Given the description of an element on the screen output the (x, y) to click on. 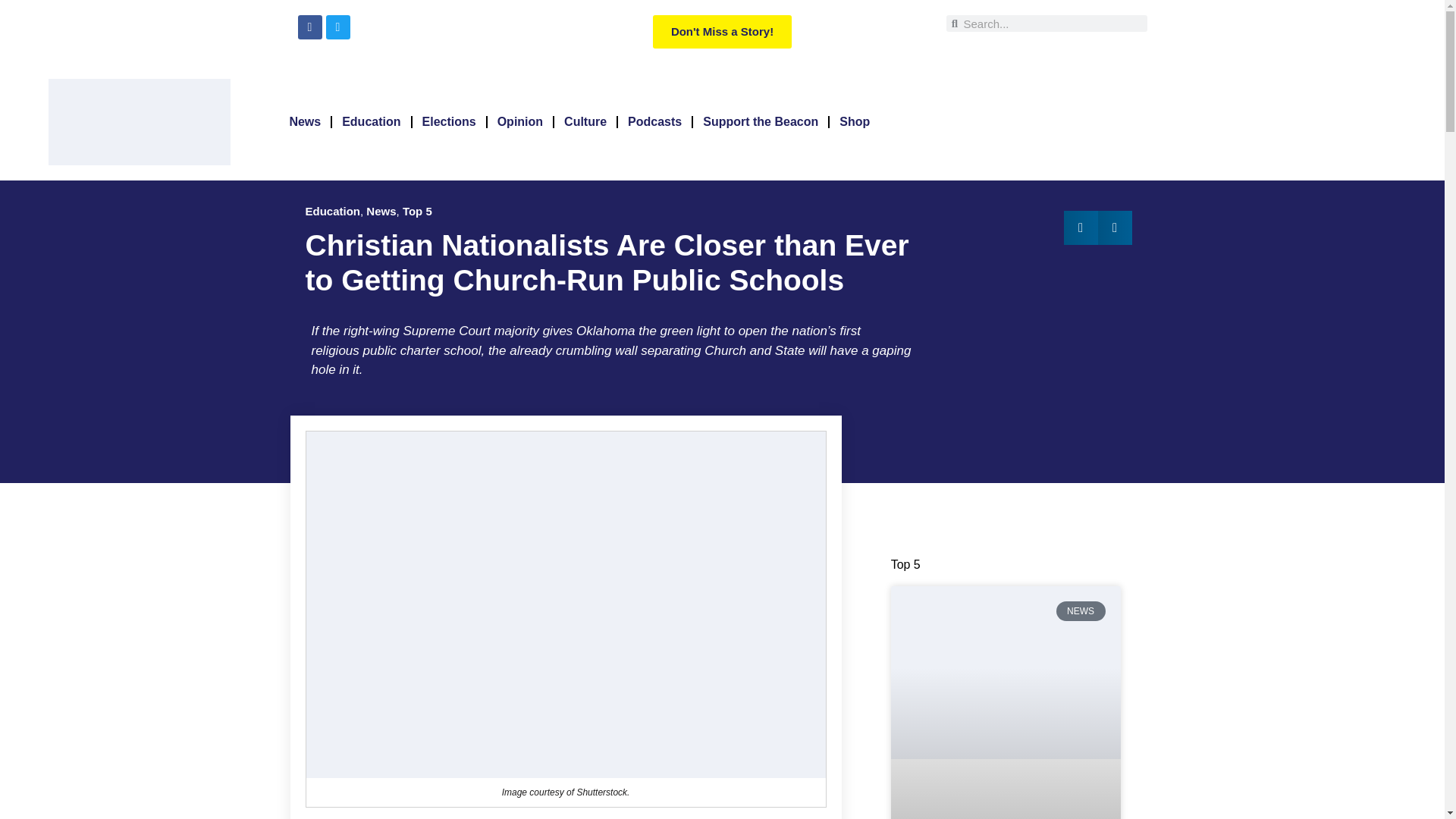
Podcasts (654, 121)
Opinion (520, 121)
Don't Miss a Story! (722, 31)
Top 5 (417, 210)
Education (331, 210)
Shop (854, 121)
Culture (584, 121)
Support the Beacon (760, 121)
News (381, 210)
Education (370, 121)
